Given the description of an element on the screen output the (x, y) to click on. 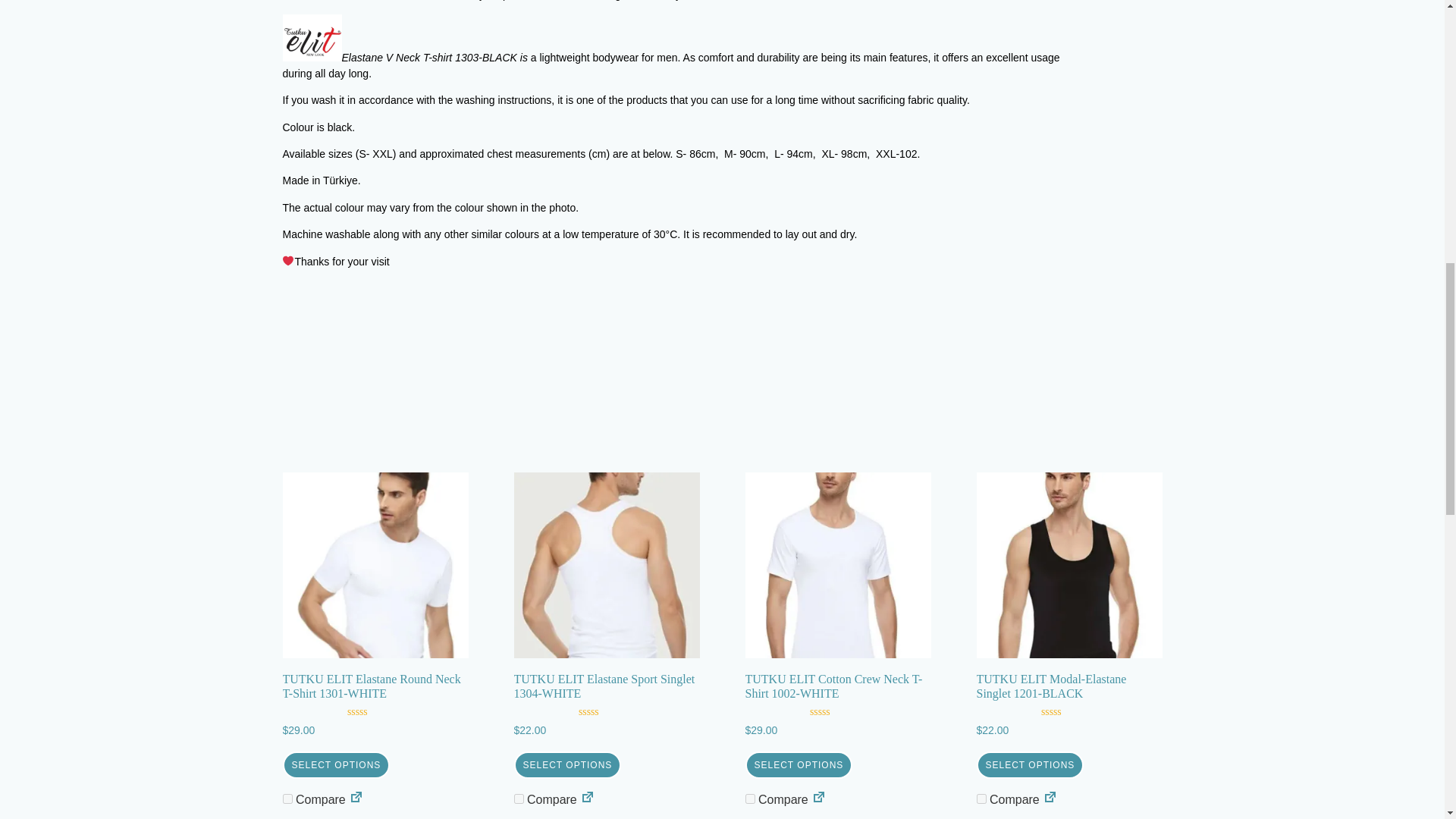
on (981, 798)
Compare Page (356, 799)
on (287, 798)
on (749, 798)
Compare Page (1050, 799)
on (518, 798)
Compare Page (818, 799)
Compare Page (587, 799)
